Given the description of an element on the screen output the (x, y) to click on. 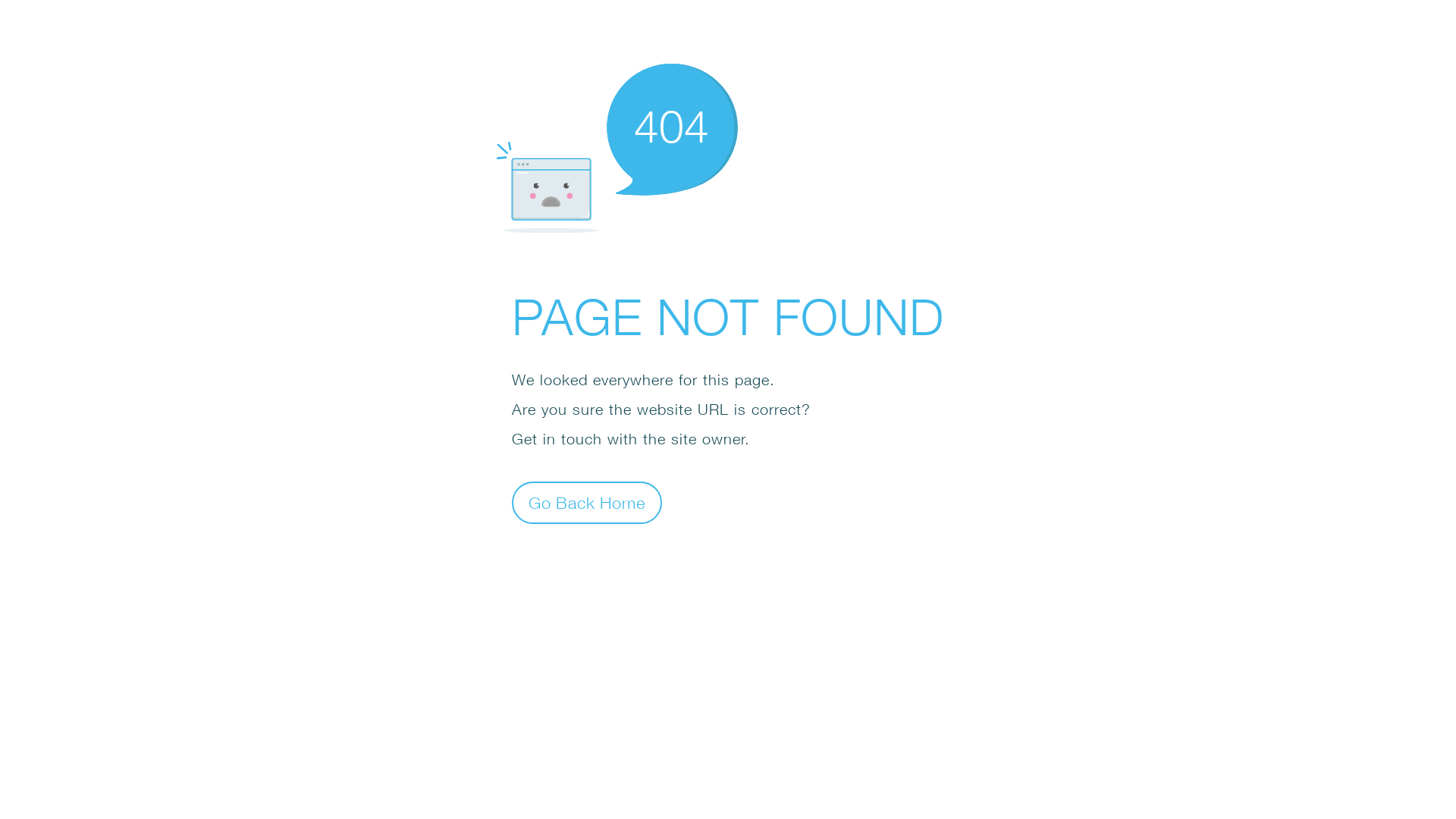
Go Back Home Element type: text (586, 502)
